Given the description of an element on the screen output the (x, y) to click on. 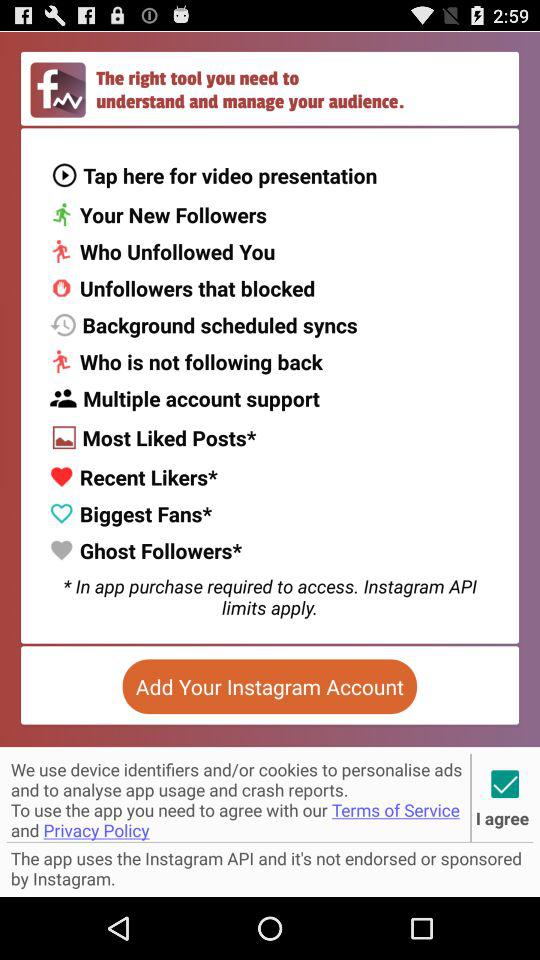
turn on the add your instagram (269, 686)
